Given the description of an element on the screen output the (x, y) to click on. 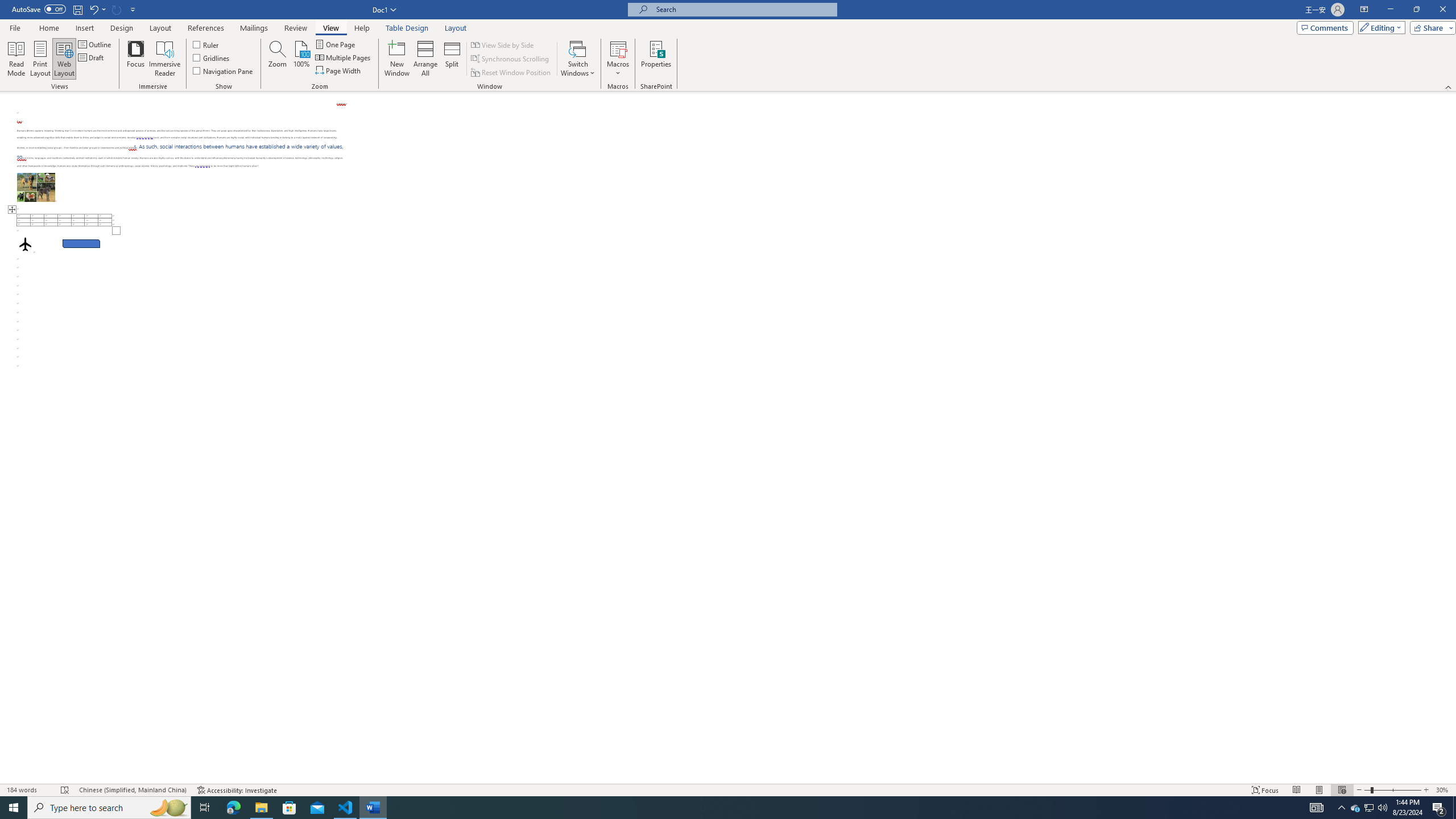
Word Count 184 words (28, 790)
Rectangle: Diagonal Corners Snipped 2 (81, 243)
Ruler (206, 44)
New Window (396, 58)
Undo Row Height Spinner (96, 9)
Undo Row Height Spinner (92, 9)
Morphological variation in six dogs (36, 187)
